Given the description of an element on the screen output the (x, y) to click on. 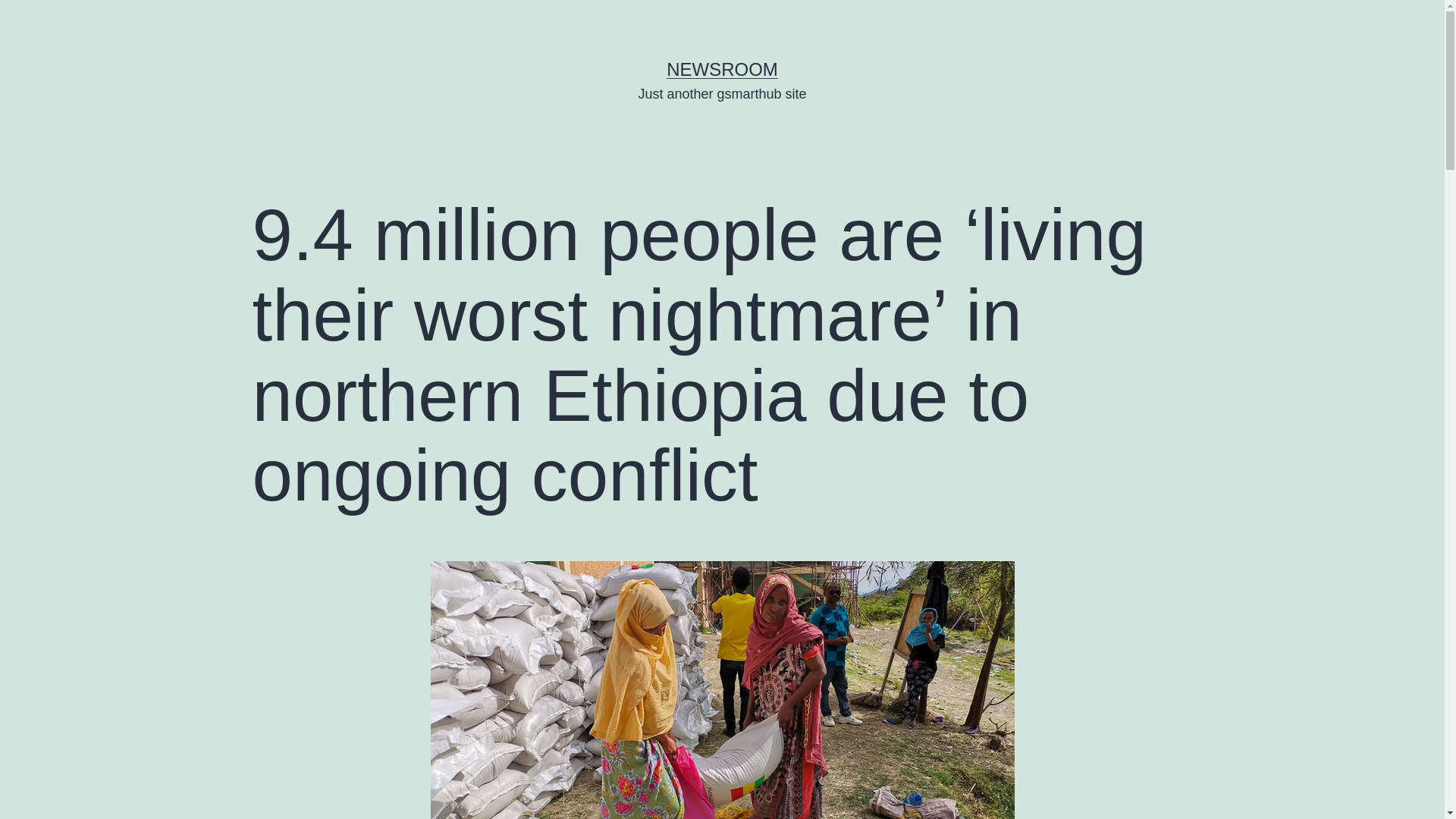
NEWSROOM (721, 68)
